Given the description of an element on the screen output the (x, y) to click on. 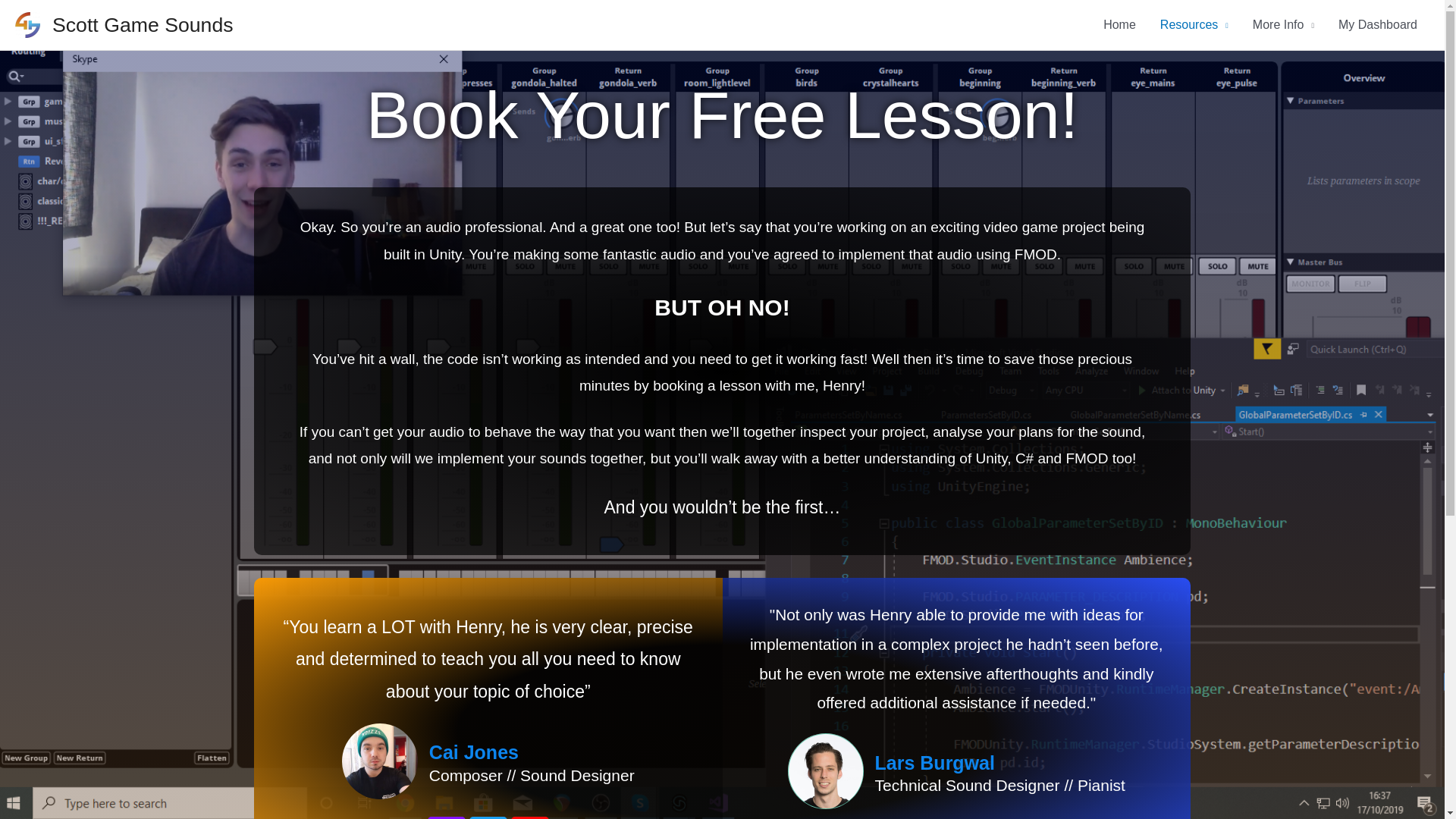
My Dashboard (1377, 24)
Resources (1194, 24)
Home (1119, 24)
More Info (1283, 24)
Scott Game Sounds (142, 24)
Lars Burgwal (1000, 763)
Cai Jones (531, 752)
